Given the description of an element on the screen output the (x, y) to click on. 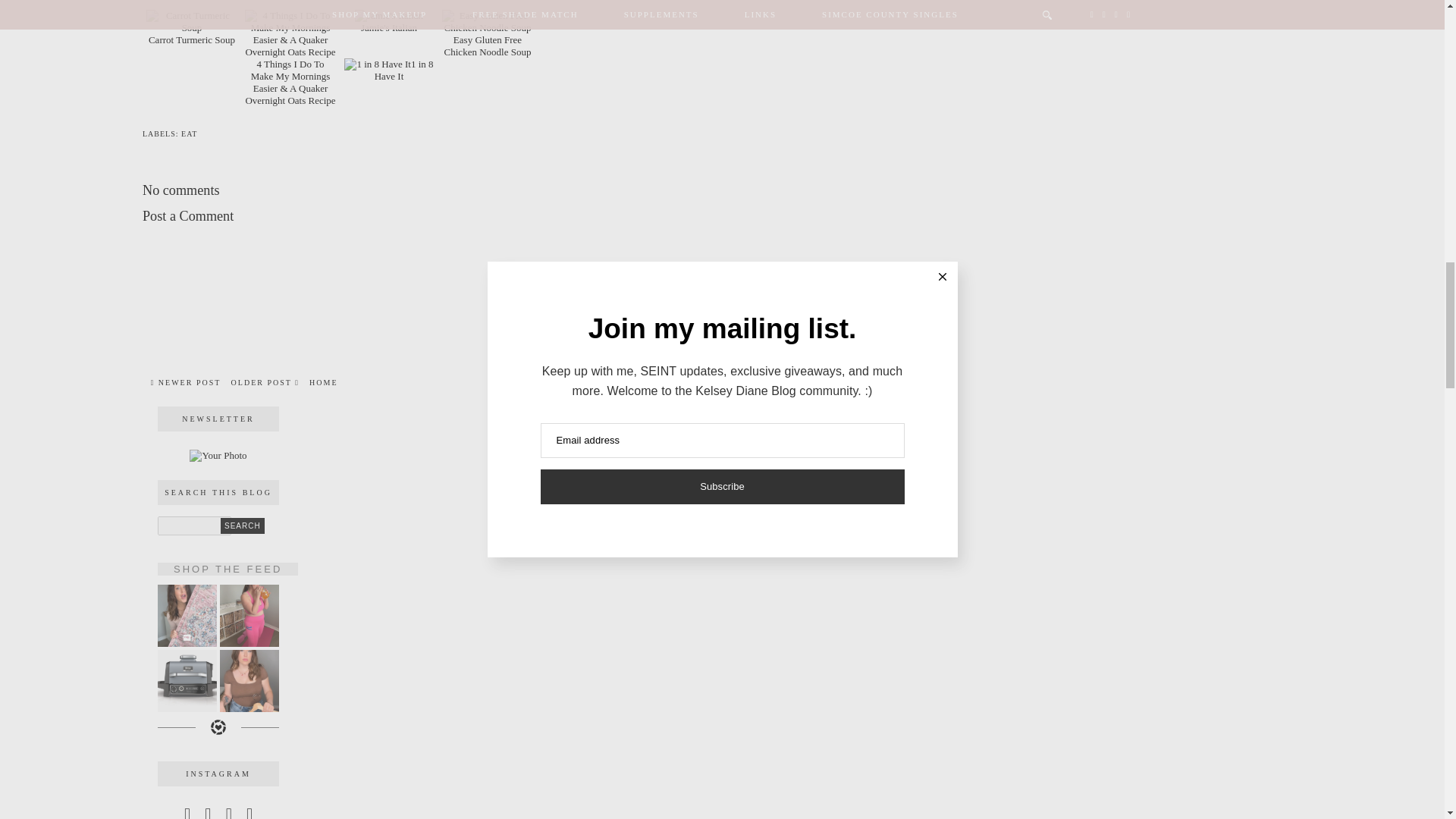
search (194, 525)
search (242, 525)
Newer Post (186, 382)
Older Post (264, 382)
Search (242, 525)
Search (242, 525)
